Given the description of an element on the screen output the (x, y) to click on. 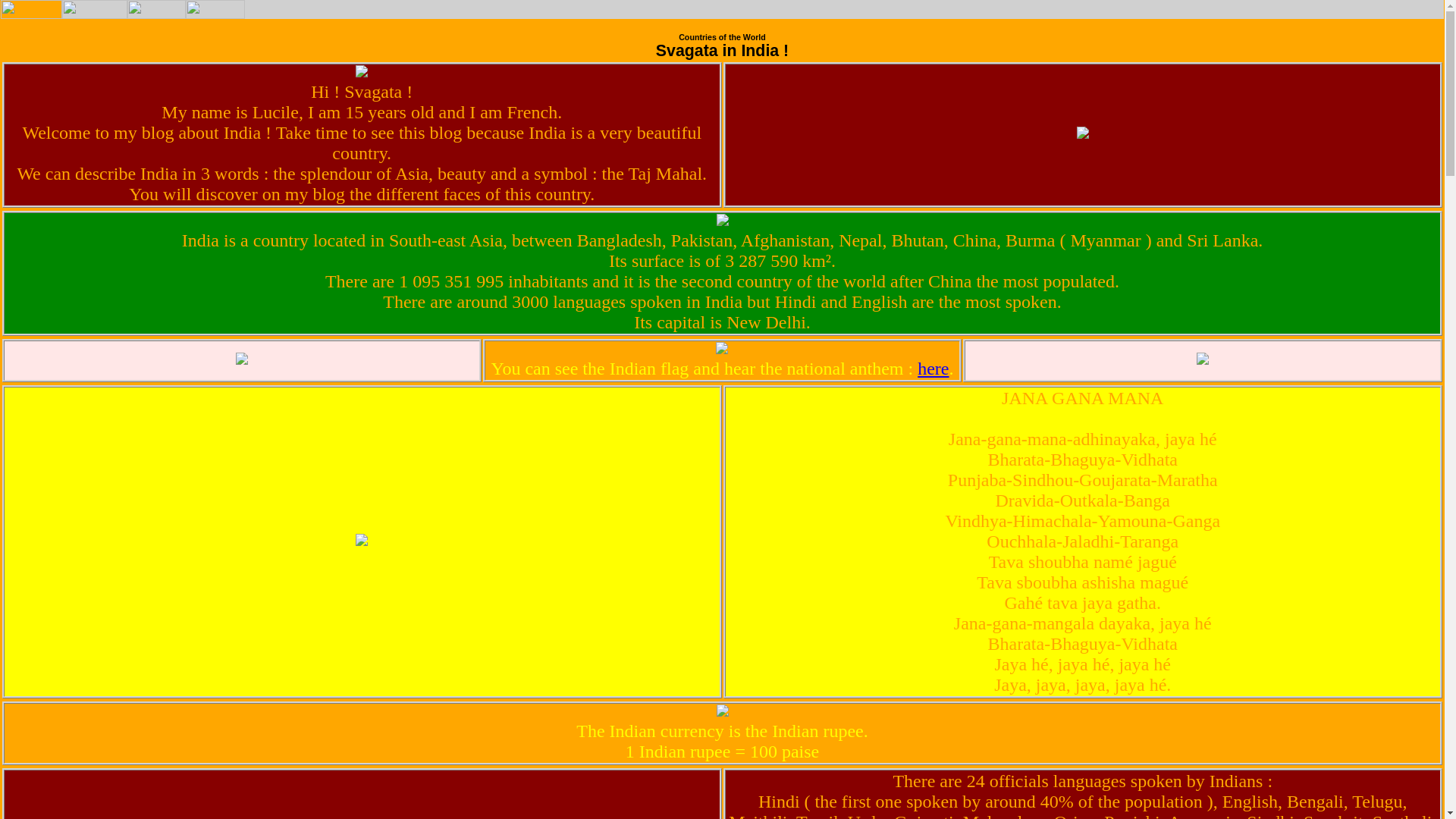
here (933, 368)
Advertisement (1266, 12)
